Given the description of an element on the screen output the (x, y) to click on. 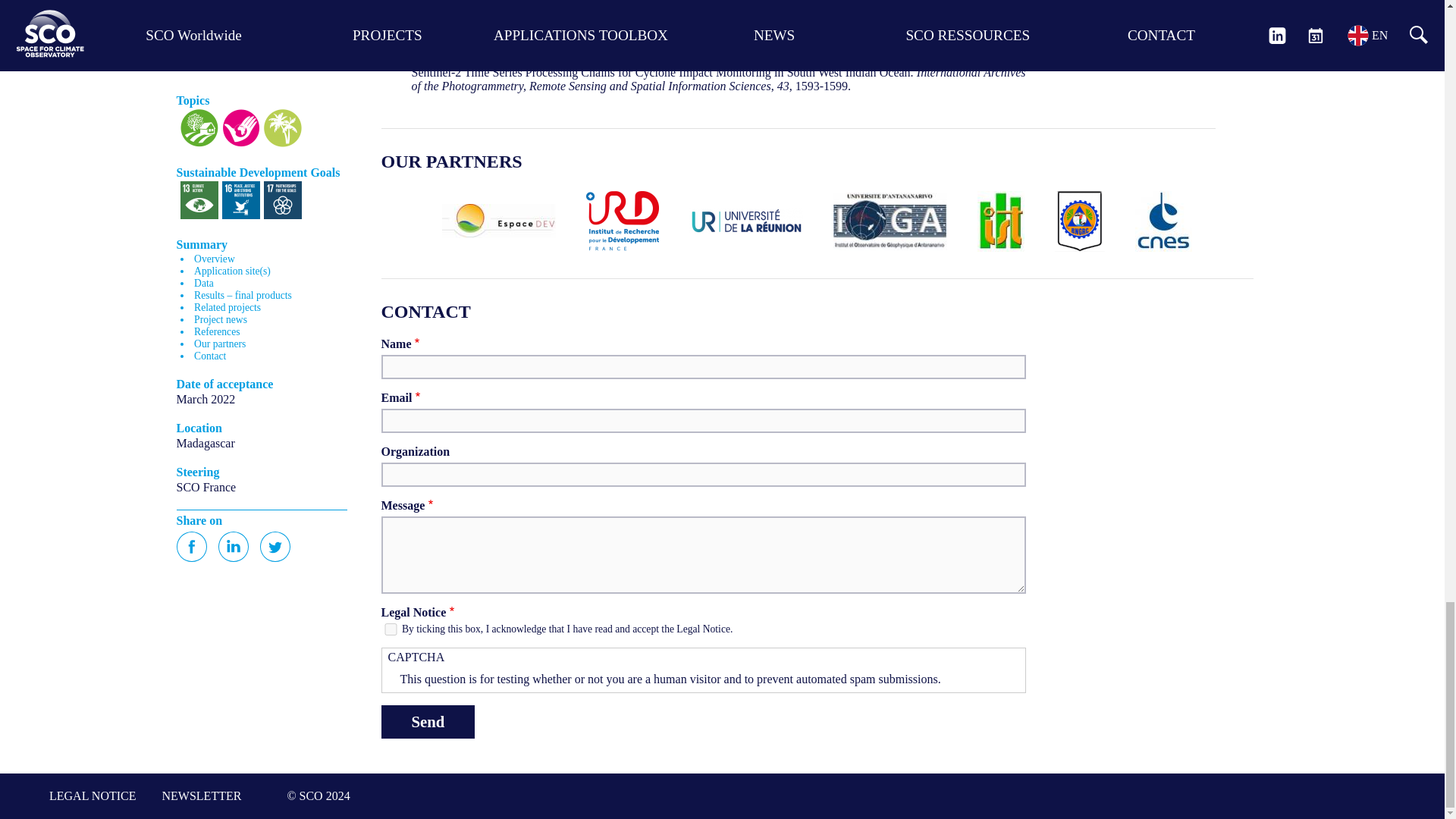
Send (427, 721)
1 (390, 629)
